Given the description of an element on the screen output the (x, y) to click on. 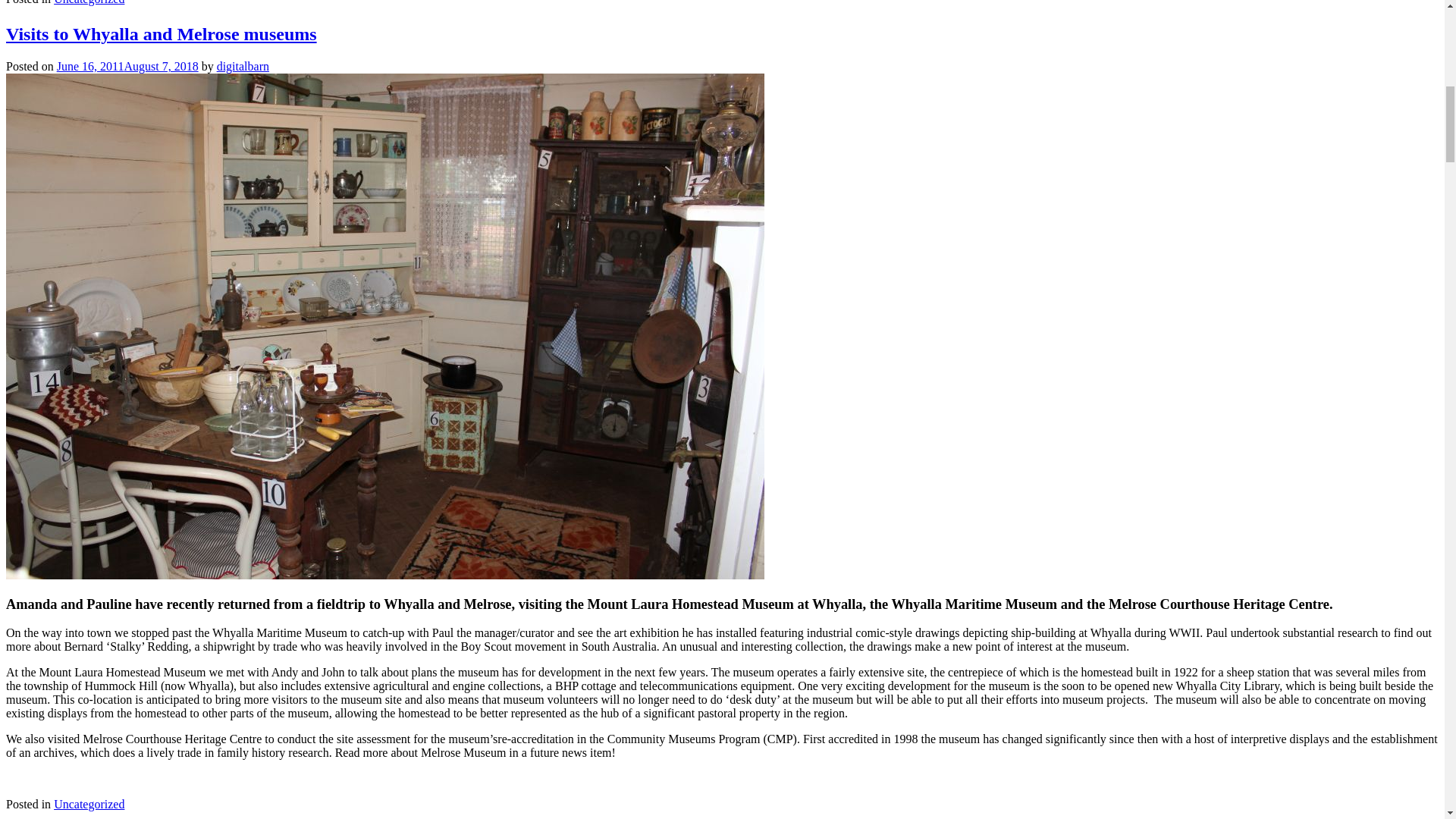
Uncategorized (88, 2)
Uncategorized (88, 803)
Visits to Whyalla and Melrose museums (161, 34)
digitalbarn (242, 65)
June 16, 2011August 7, 2018 (127, 65)
